Given the description of an element on the screen output the (x, y) to click on. 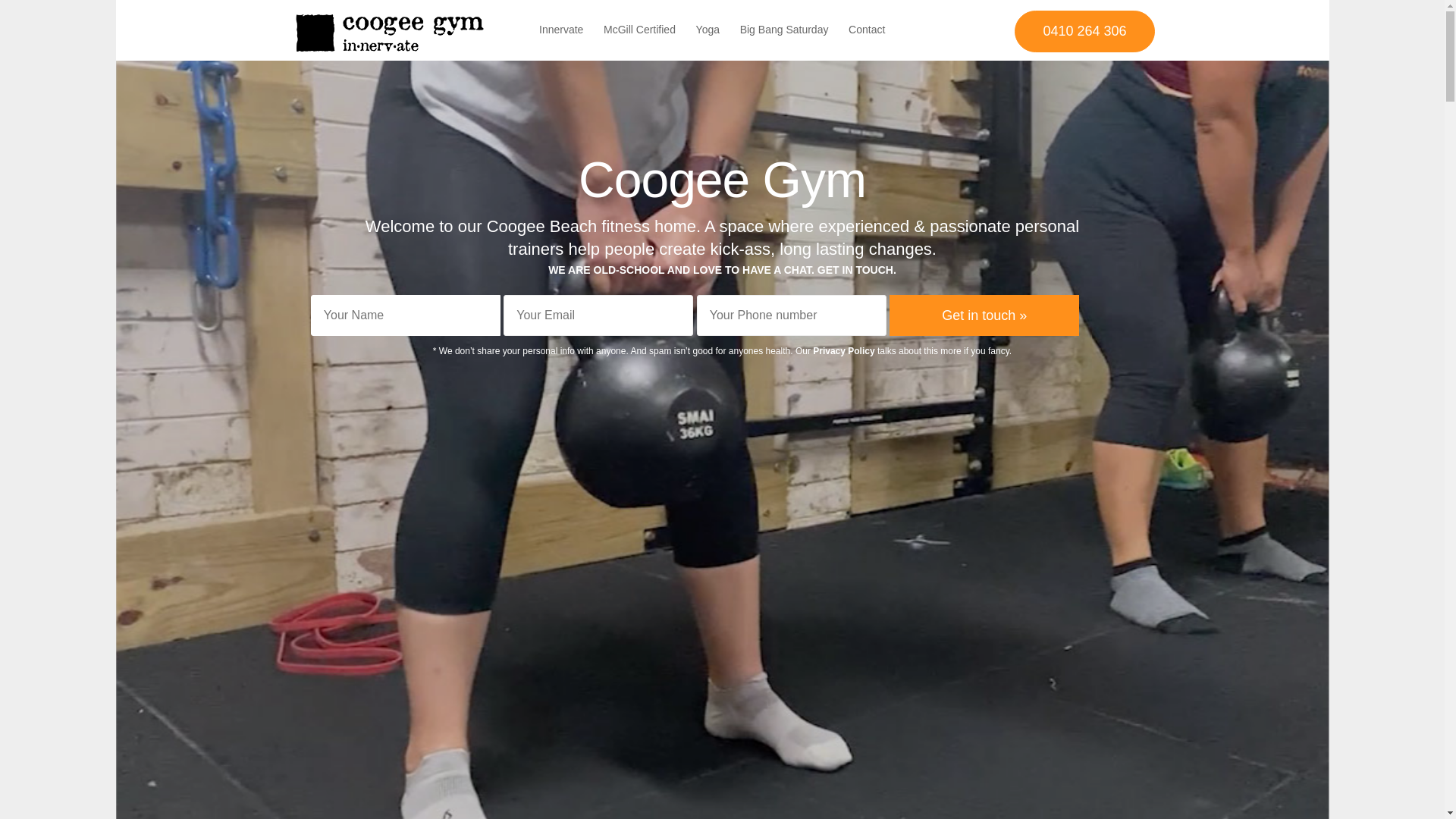
Big Bang Saturday Element type: text (784, 29)
Yoga Element type: text (707, 29)
Innervate Element type: text (561, 29)
Privacy Policy Element type: text (843, 350)
McGill Certified Element type: text (639, 29)
0410 264 306 Element type: text (1084, 31)
Contact Element type: text (866, 29)
